Given the description of an element on the screen output the (x, y) to click on. 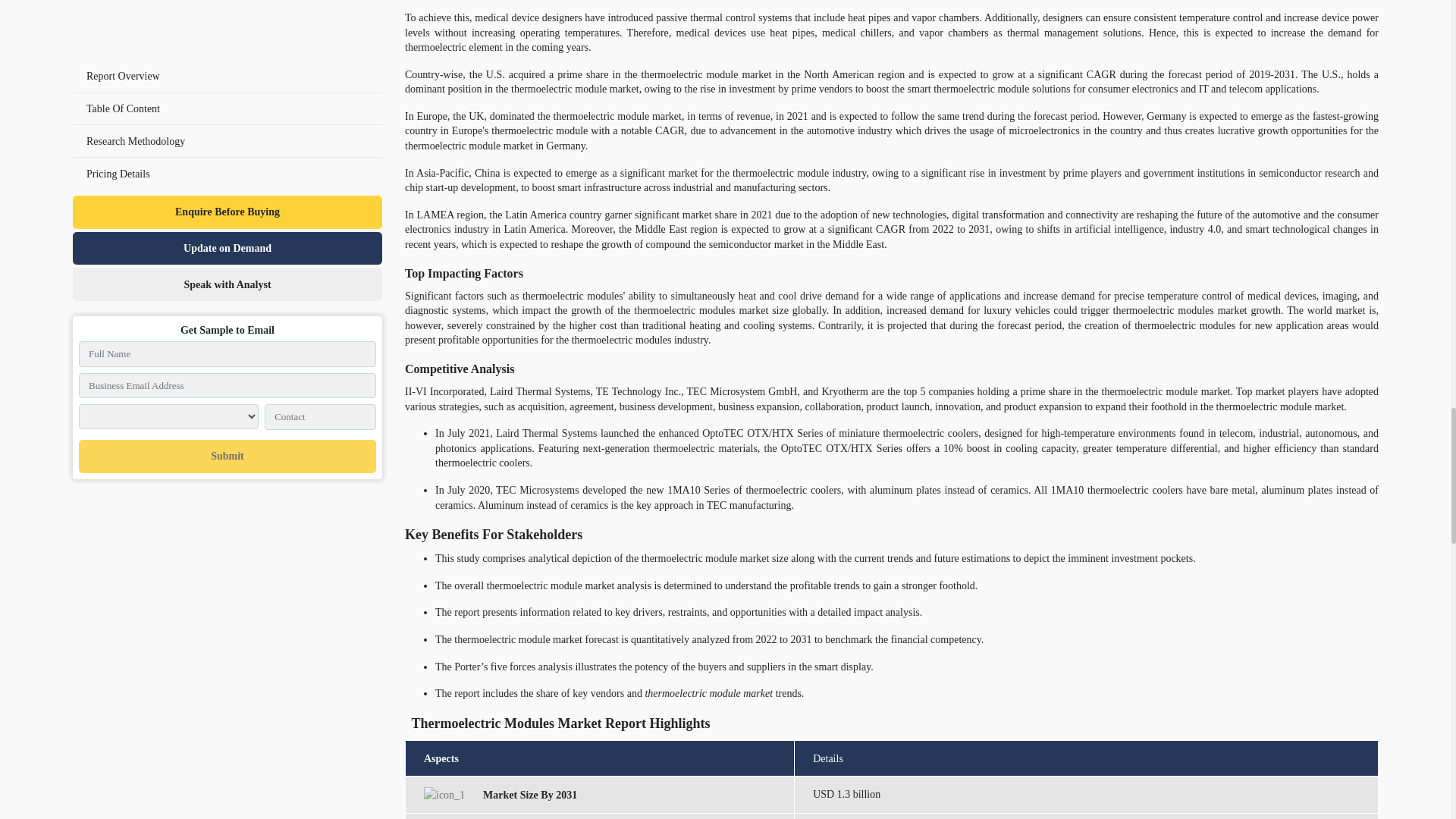
Market Size By 2031 (443, 795)
